Given the description of an element on the screen output the (x, y) to click on. 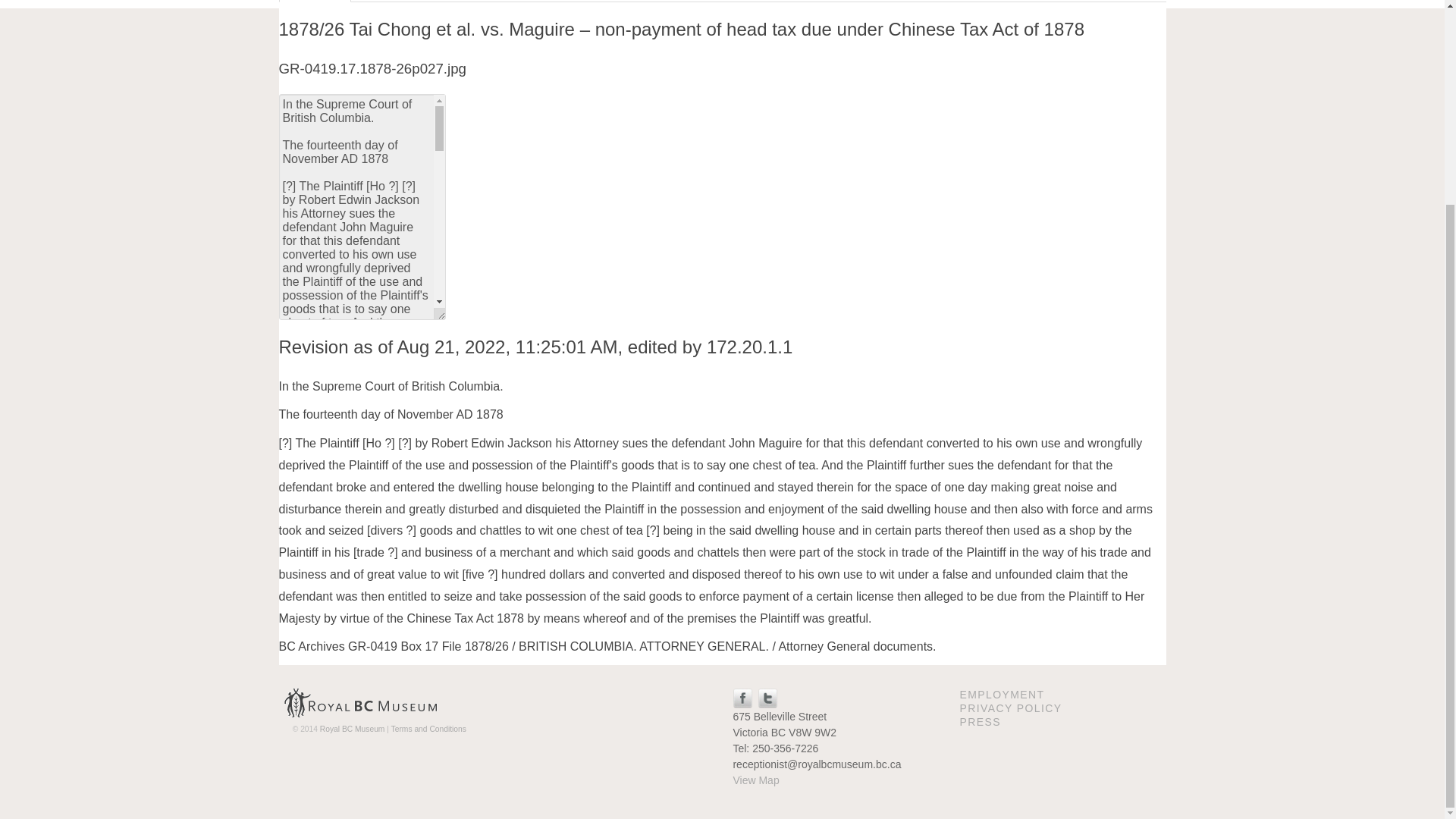
EMPLOYMENT (1001, 694)
Log in to Scripto (406, 1)
Royal BC Museum (360, 702)
View item (606, 1)
PRIVACY POLICY (1010, 707)
Facebook (742, 696)
Terms and Conditions (428, 728)
Royal BC Museum (352, 728)
View Map (755, 779)
Twitter (767, 696)
View history (861, 1)
View file (675, 1)
PRESS (979, 721)
Recent changes (515, 1)
Transcribe page (763, 1)
